Given the description of an element on the screen output the (x, y) to click on. 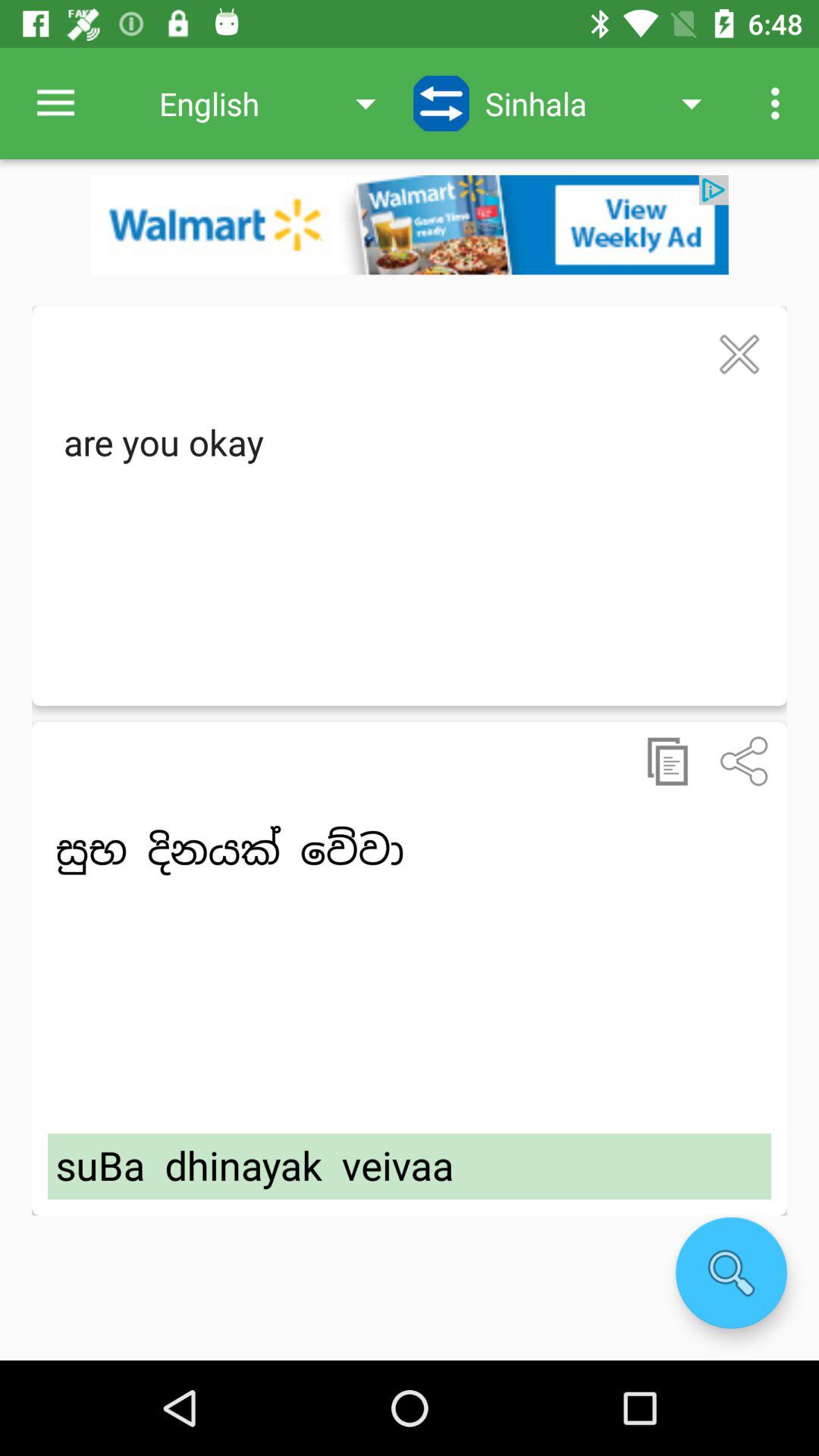
tap the icon below the suba dhinayak veivaa (731, 1272)
